Given the description of an element on the screen output the (x, y) to click on. 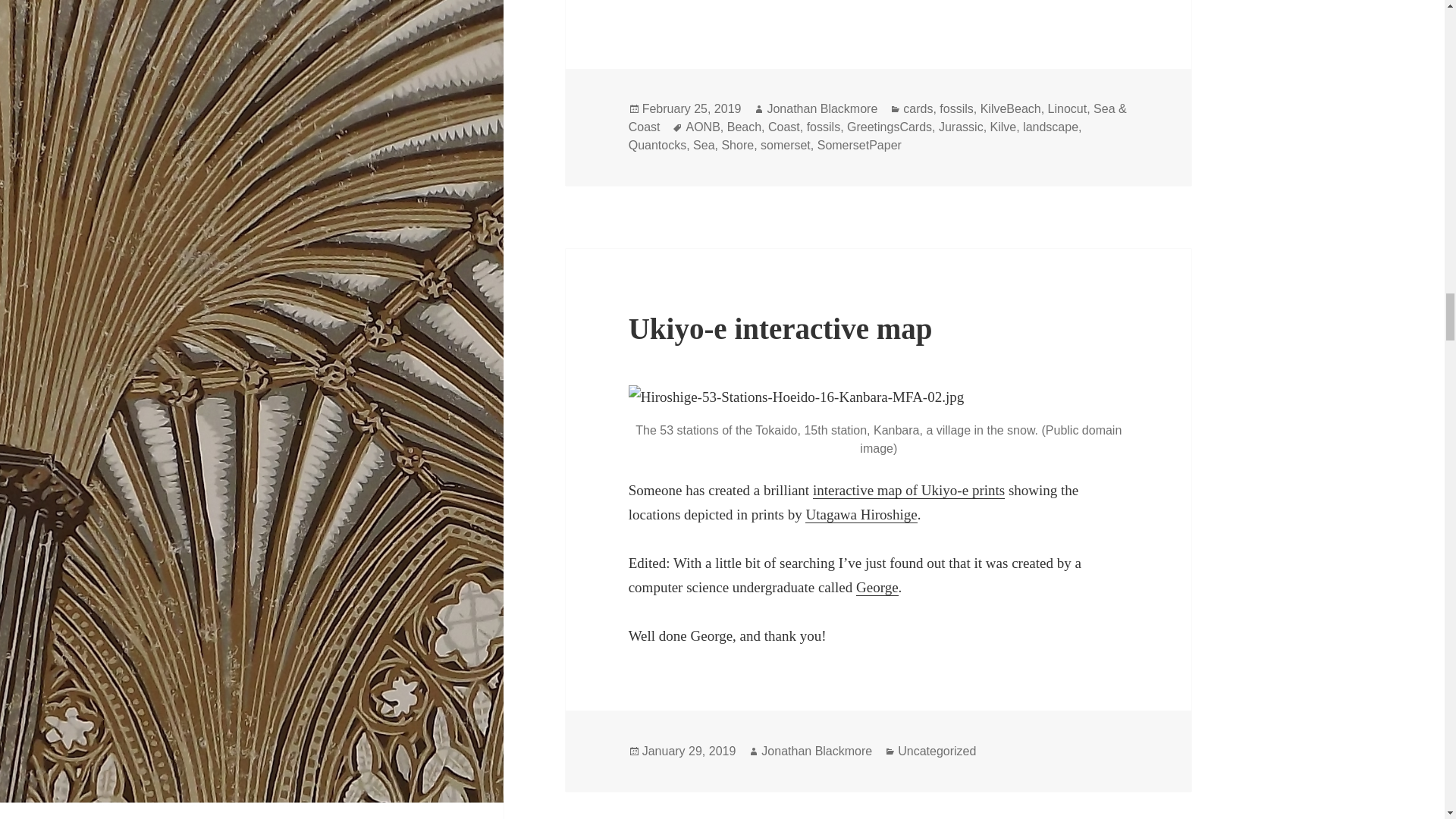
Jonathan Blackmore (822, 109)
cards (917, 109)
fossils (955, 109)
Linocut (1067, 109)
February 25, 2019 (691, 109)
KilveBeach (1010, 109)
